Given the description of an element on the screen output the (x, y) to click on. 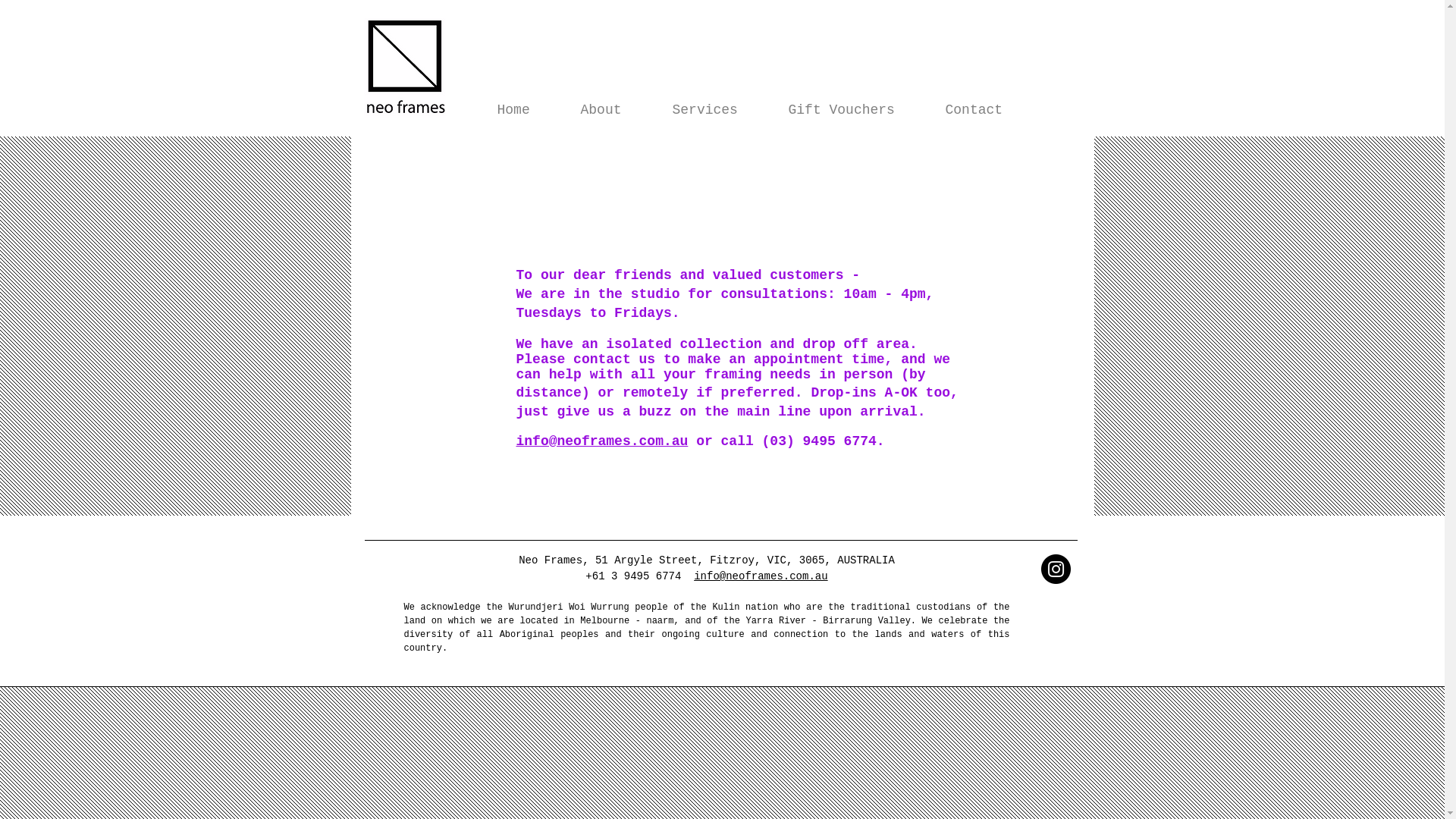
About Element type: text (614, 109)
Contact Element type: text (988, 109)
info@neoframes.com.au Element type: text (601, 440)
Services Element type: text (719, 109)
Home Element type: text (526, 109)
info@neoframes.com.au Element type: text (760, 576)
Gift Vouchers Element type: text (854, 109)
